Given the description of an element on the screen output the (x, y) to click on. 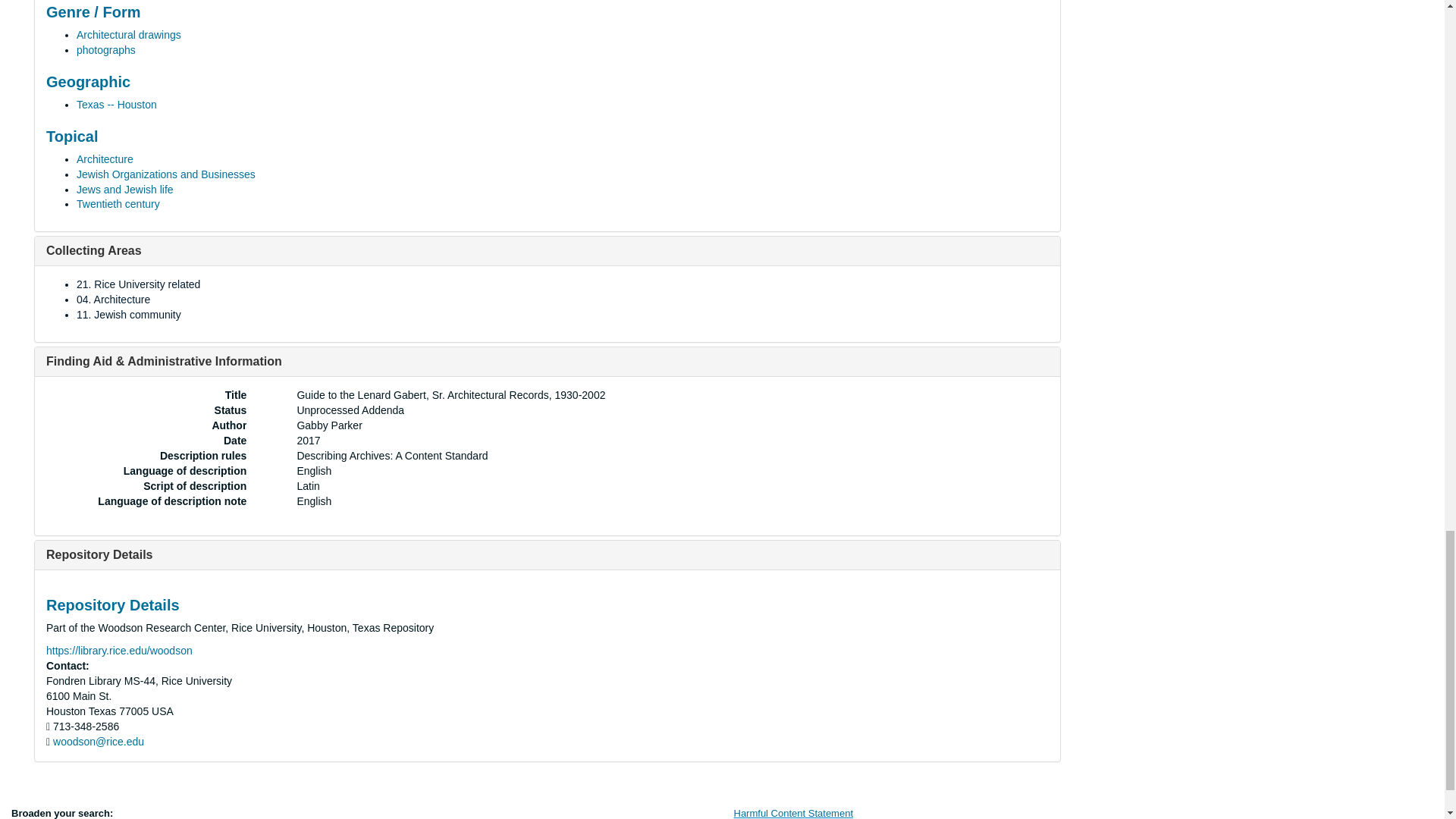
Collecting Areas (93, 250)
21. Rice University related (138, 284)
11. Jewish community (128, 314)
Texas -- Houston (117, 104)
photographs (106, 50)
Architecture (105, 159)
Jewish Organizations and Businesses (166, 174)
Architectural drawings (128, 34)
Twentieth century (118, 203)
Send email (98, 741)
04. Architecture (113, 299)
Jews and Jewish life (125, 189)
